Given the description of an element on the screen output the (x, y) to click on. 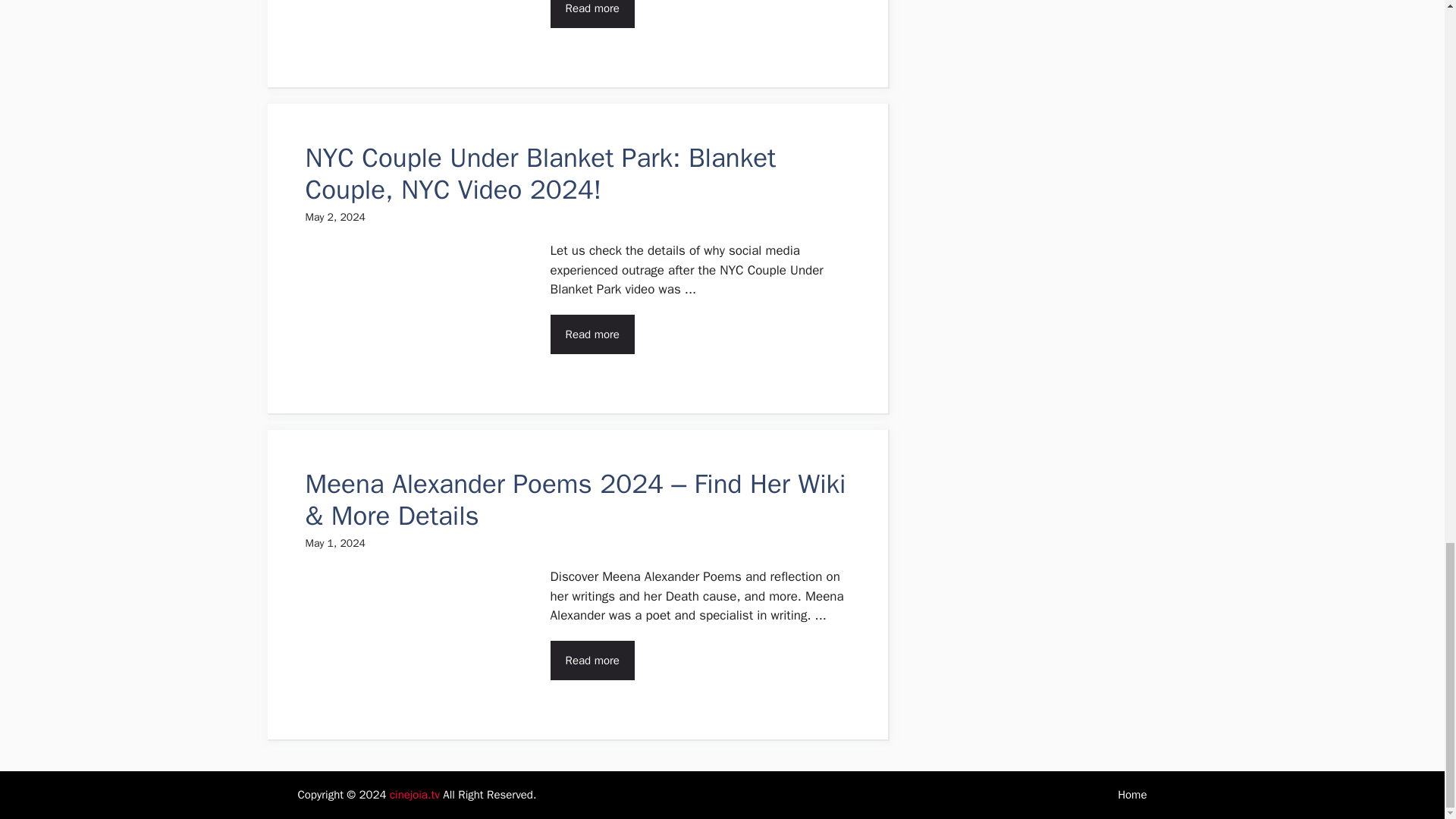
Read more (592, 334)
Read more (592, 660)
Home (1132, 794)
Read more (592, 14)
cinejoia.tv (414, 794)
